Given the description of an element on the screen output the (x, y) to click on. 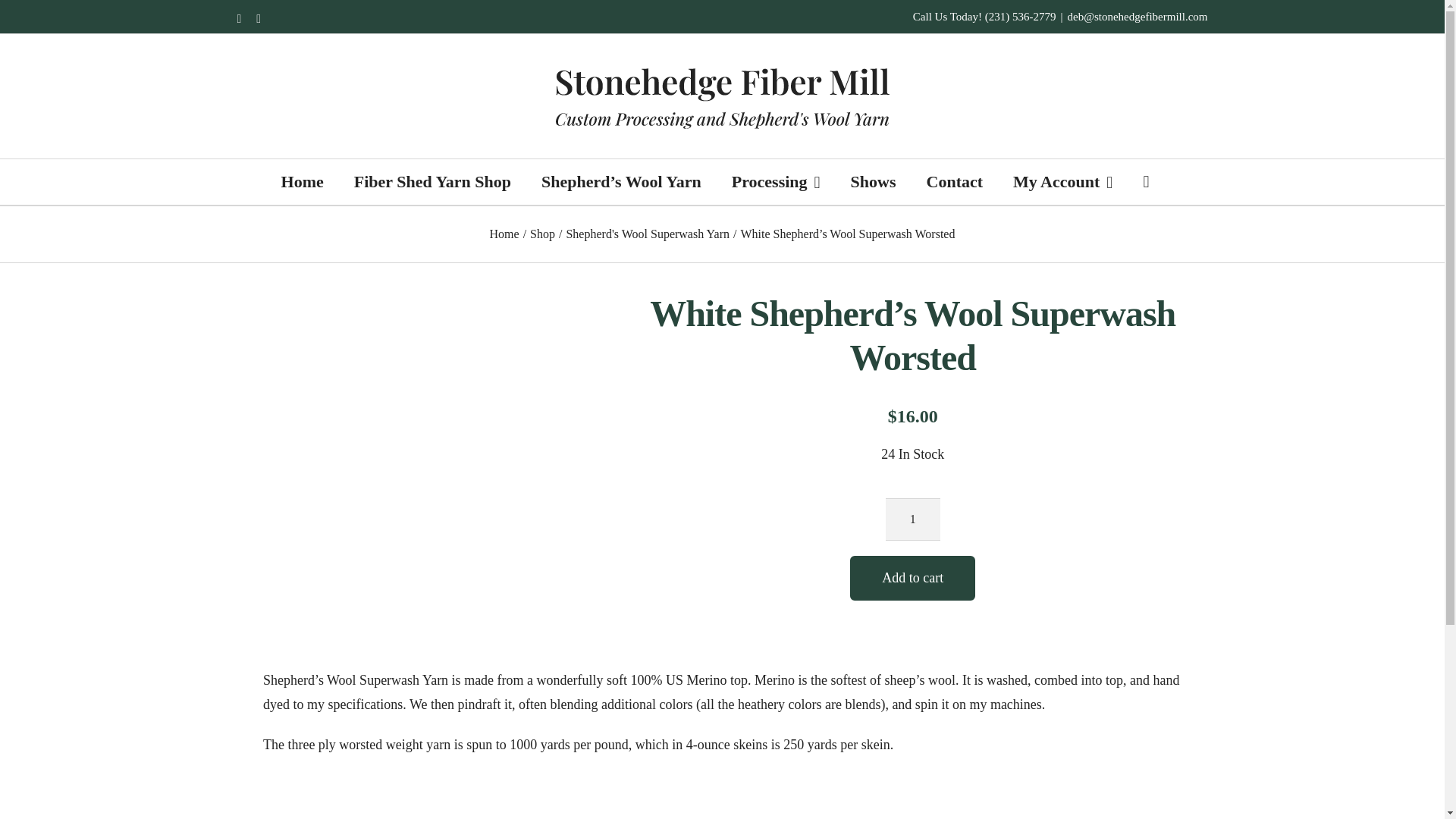
Add to cart (912, 578)
Shows (873, 181)
My Account (1062, 181)
Home (504, 233)
Shop (541, 233)
Home (302, 181)
Shepherd's Wool Superwash Yarn (647, 233)
Log In (1109, 349)
Contact (955, 181)
Processing (776, 181)
